Given the description of an element on the screen output the (x, y) to click on. 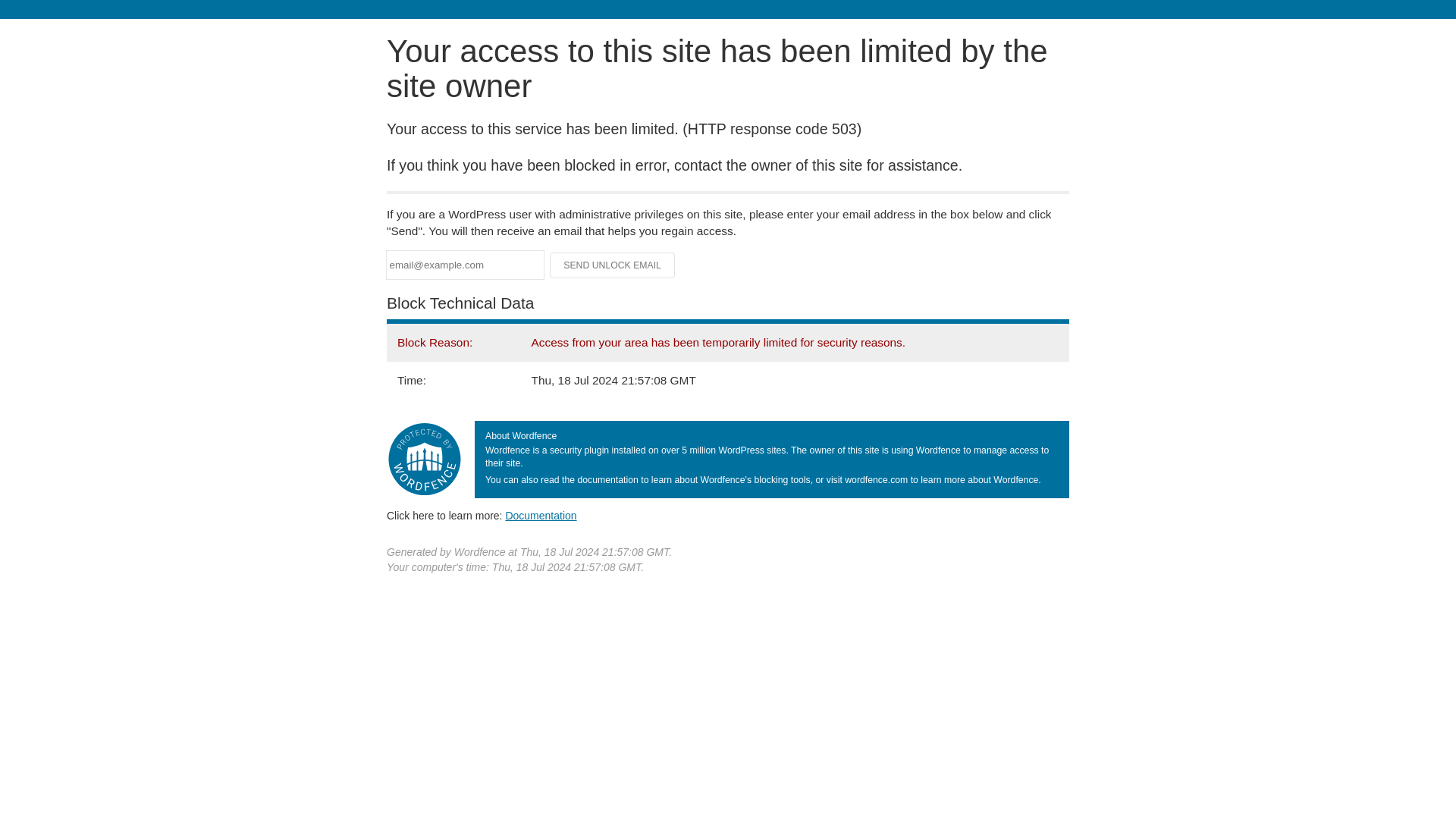
Send Unlock Email (612, 265)
Send Unlock Email (612, 265)
Documentation (540, 515)
